Given the description of an element on the screen output the (x, y) to click on. 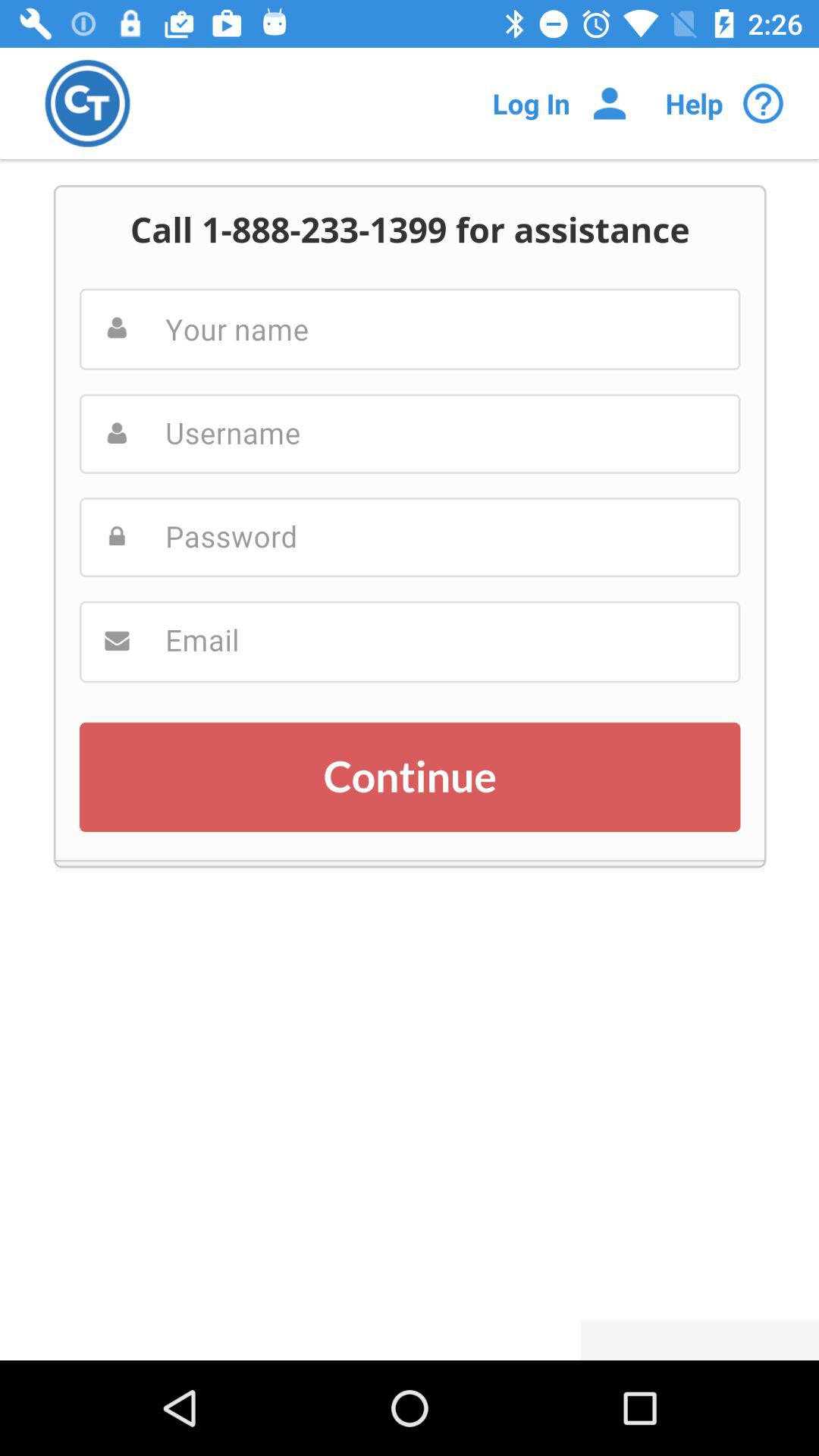
company logo (87, 103)
